Given the description of an element on the screen output the (x, y) to click on. 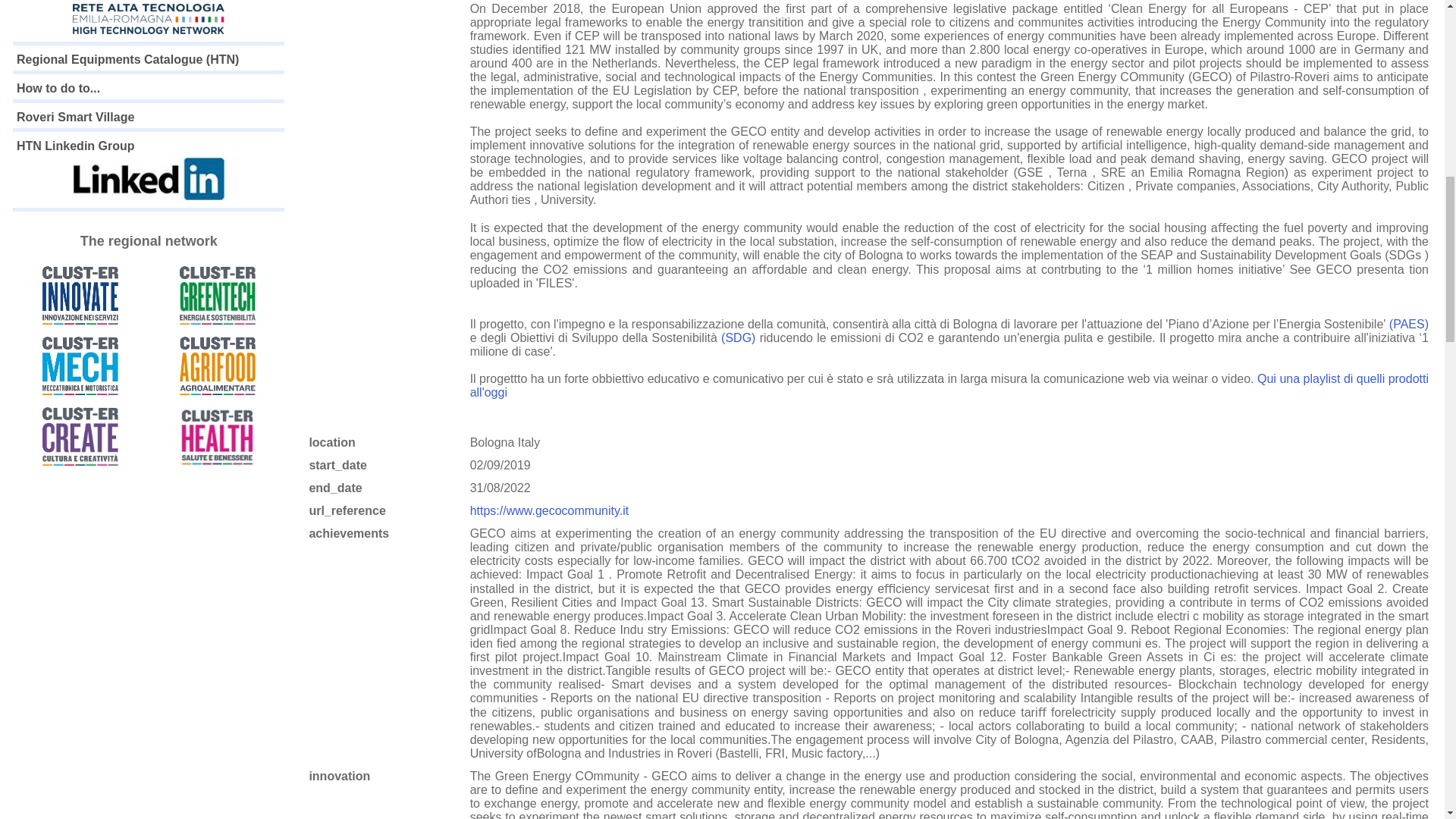
HTN Linkedin Group (148, 171)
Roveri Smart Village (74, 116)
How to do to... (58, 88)
